Given the description of an element on the screen output the (x, y) to click on. 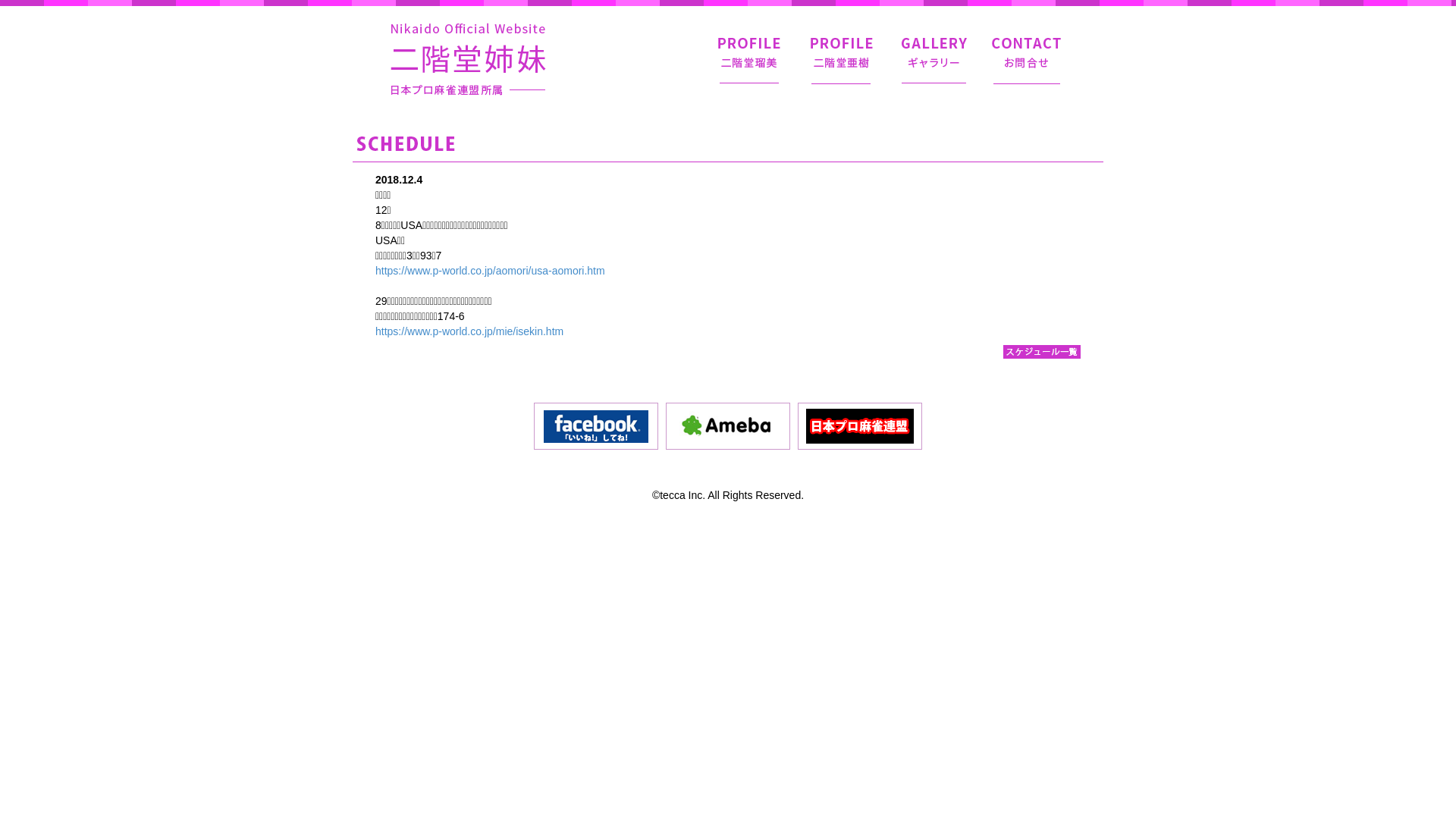
https://www.p-world.co.jp/mie/isekin.htm Element type: text (469, 331)
https://www.p-world.co.jp/aomori/usa-aomori.htm Element type: text (490, 270)
